Given the description of an element on the screen output the (x, y) to click on. 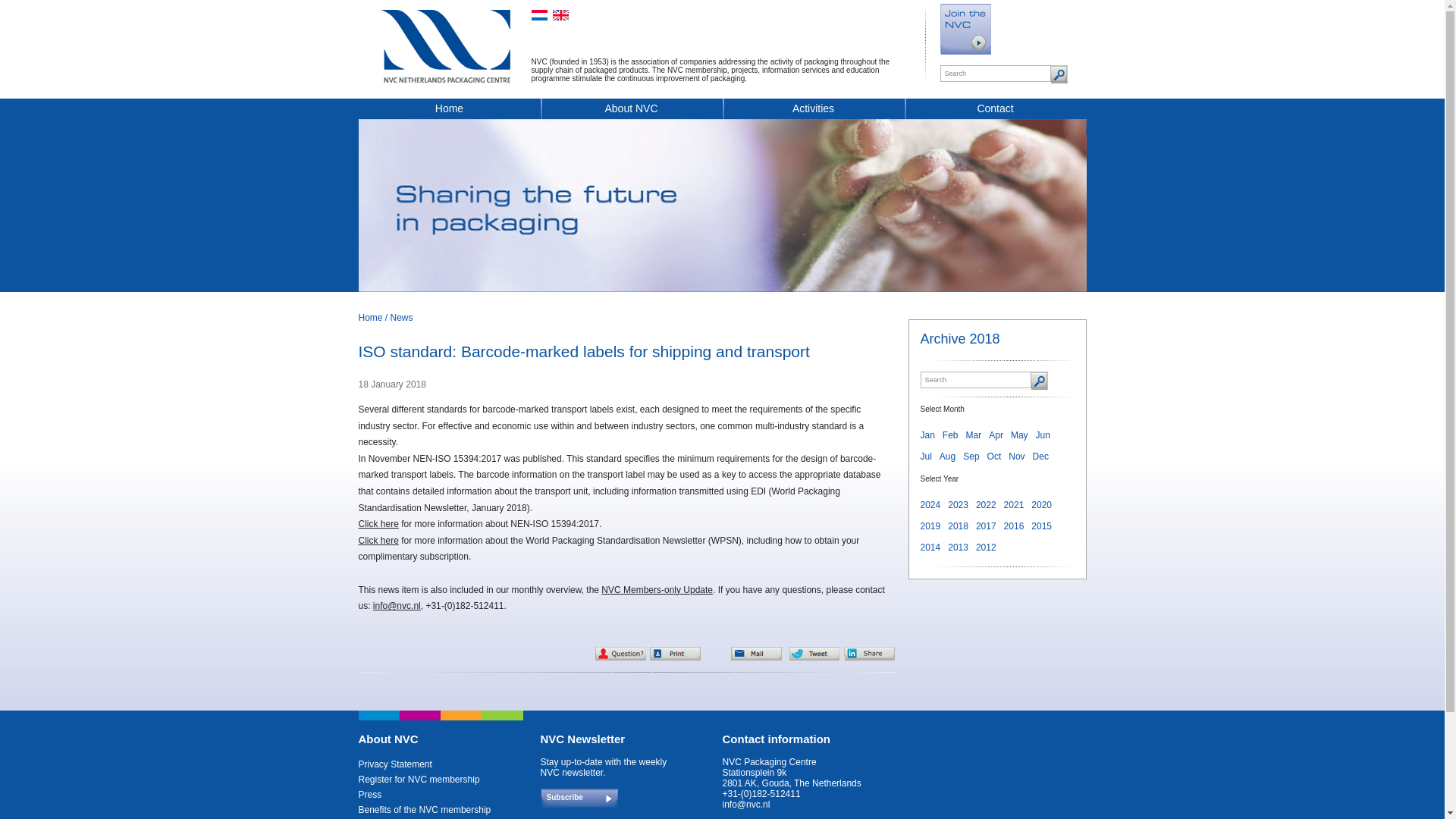
Engels (559, 14)
Jan (927, 434)
Jul (925, 456)
Aug (947, 456)
Home (449, 110)
Feb (950, 434)
Home (369, 317)
Contact (995, 110)
May (1018, 434)
Activities (813, 110)
